Given the description of an element on the screen output the (x, y) to click on. 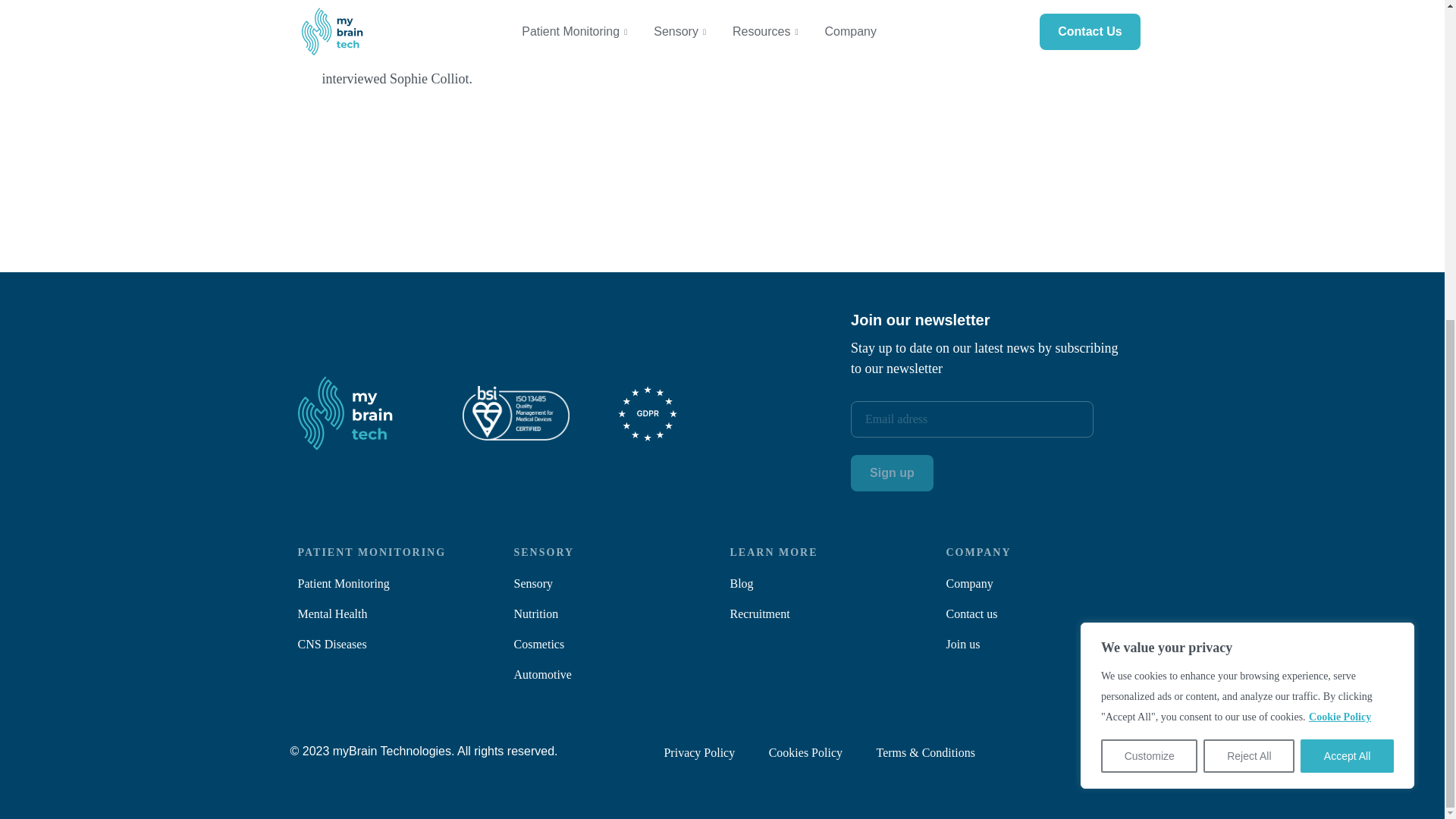
Cookie Policy (1339, 197)
Accept All (1346, 236)
Reject All (1249, 236)
Customize (1148, 236)
